Given the description of an element on the screen output the (x, y) to click on. 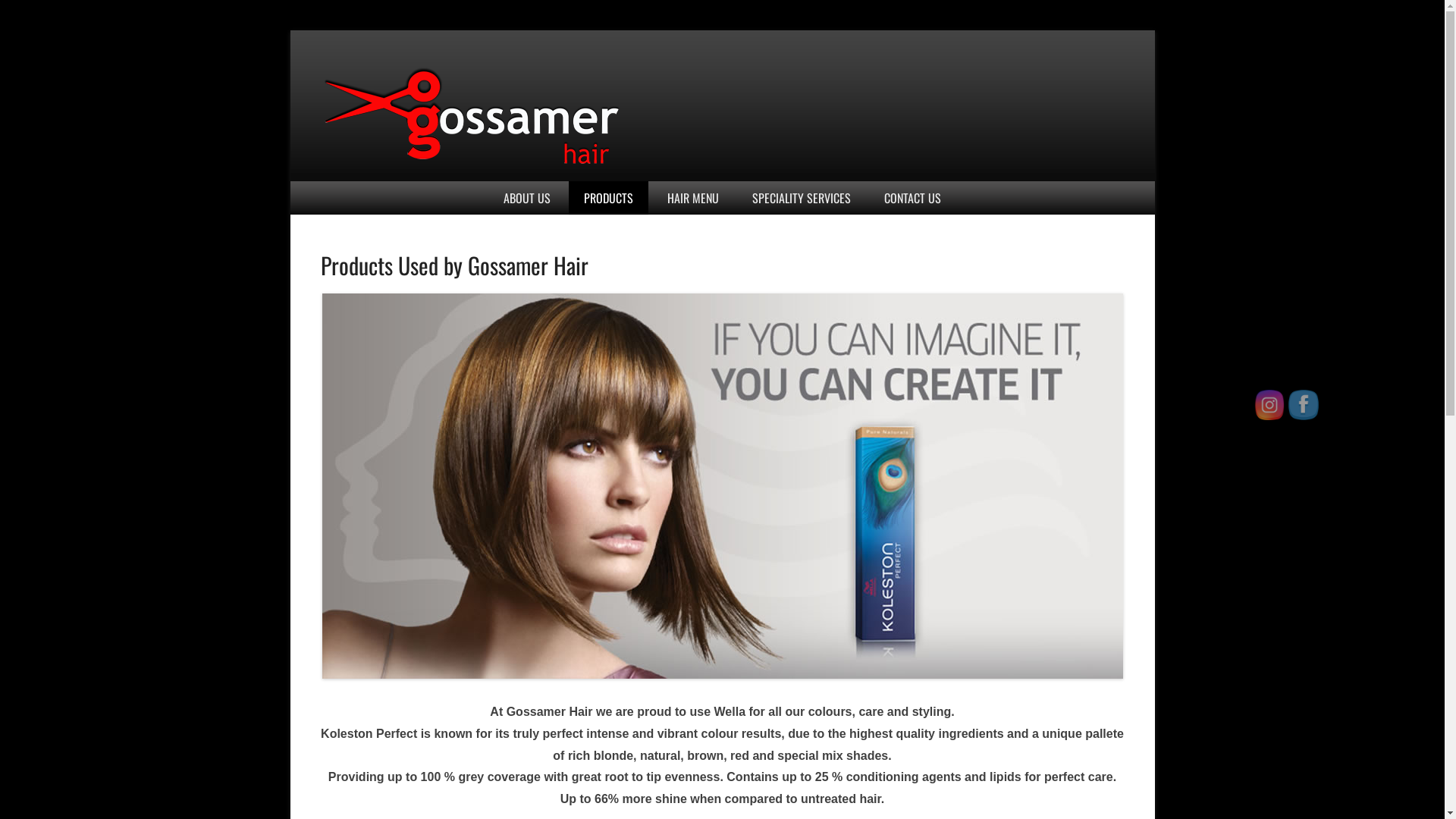
Skip to content Element type: text (289, 29)
SPECIALITY SERVICES Element type: text (801, 197)
PRODUCTS Element type: text (608, 197)
CONTACT US Element type: text (912, 197)
HAIR MENU Element type: text (693, 197)
ABOUT US Element type: text (526, 197)
Facebook Element type: hover (1303, 404)
Gossamer Hair Element type: text (454, 192)
Instagram Element type: hover (1269, 404)
